Given the description of an element on the screen output the (x, y) to click on. 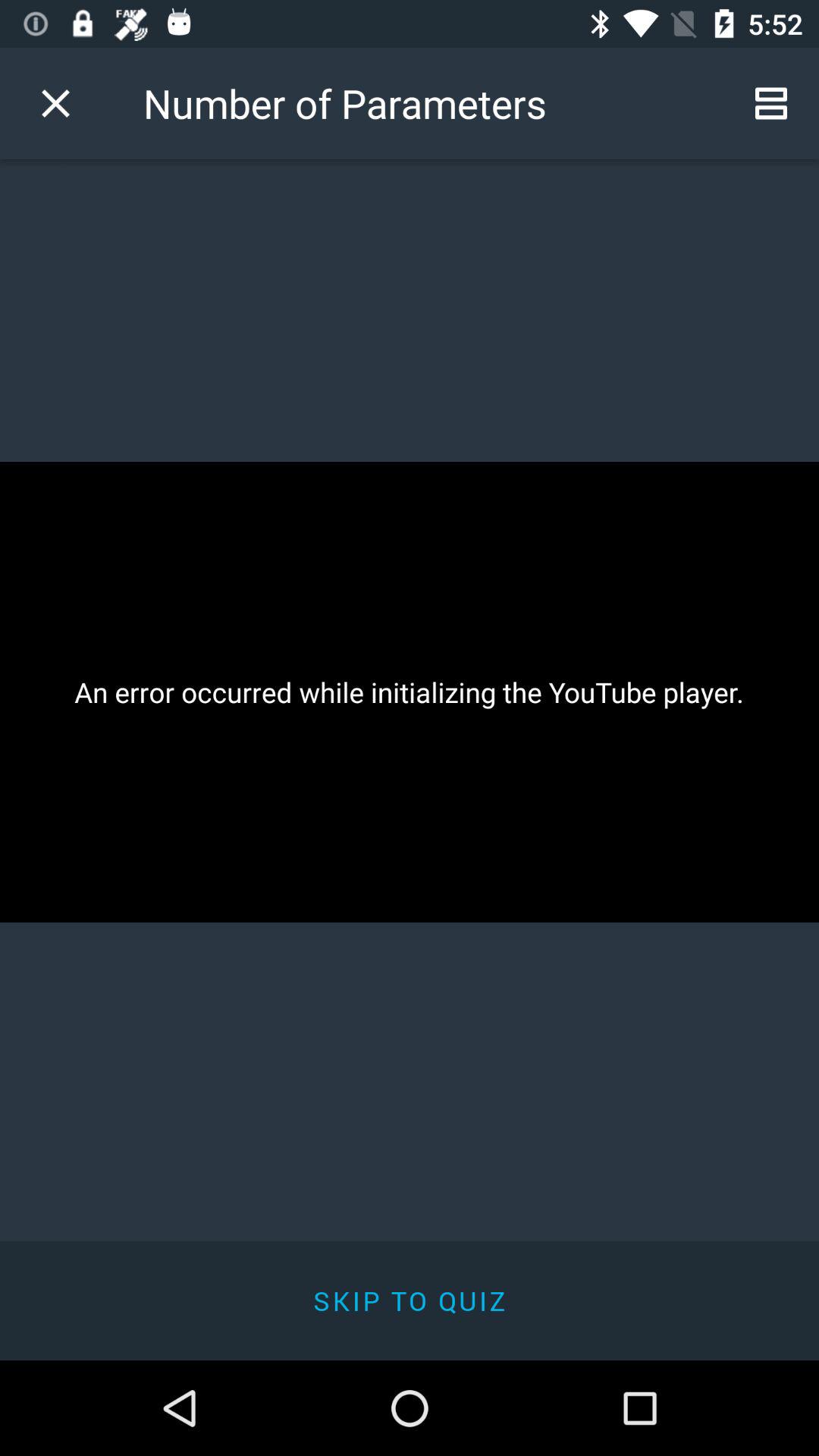
open the icon next to the number of parameters icon (771, 103)
